Given the description of an element on the screen output the (x, y) to click on. 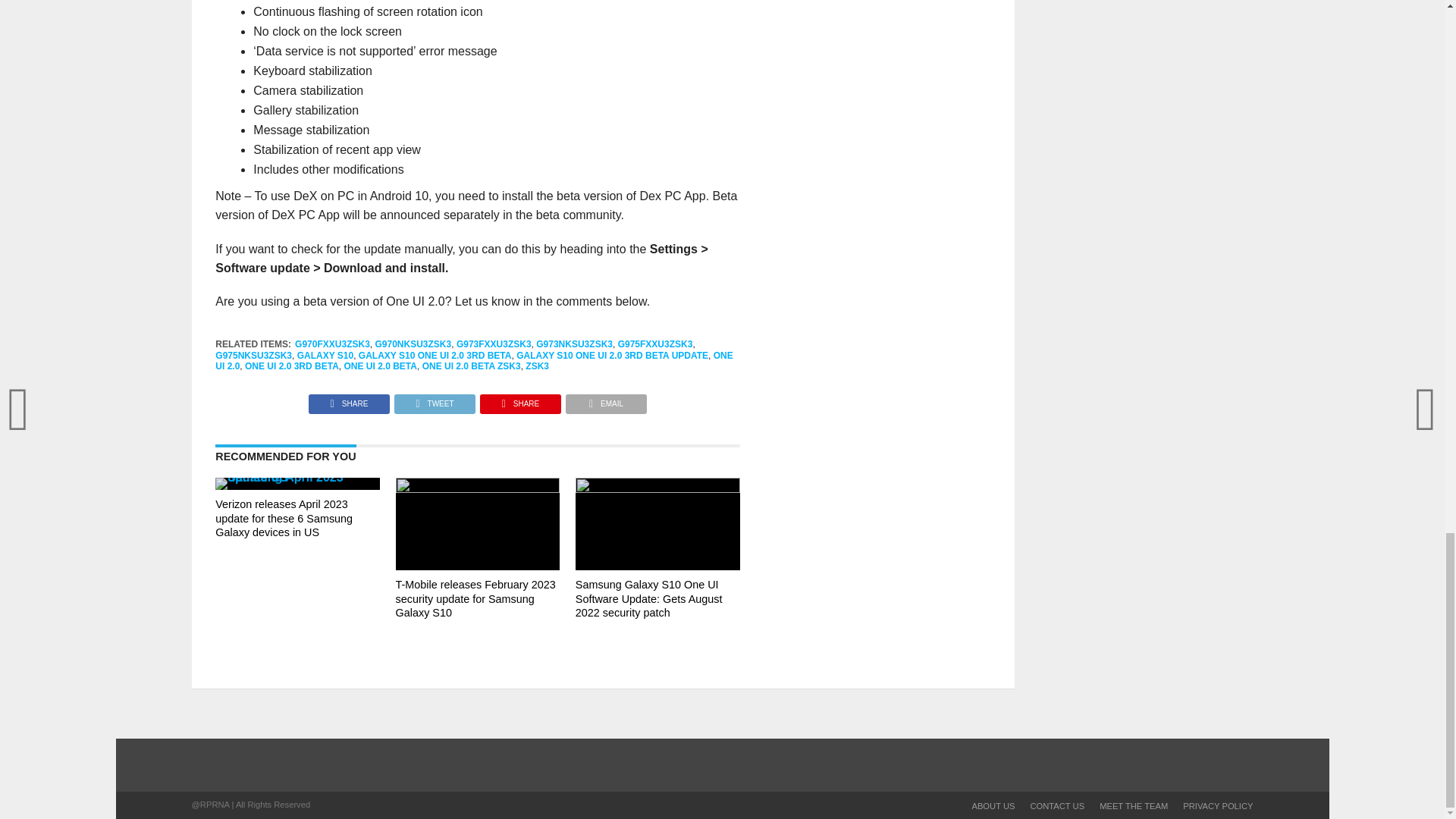
G973NKSU3ZSK3 (573, 344)
Tweet This Post (434, 399)
Share on Facebook (349, 399)
G970NKSU3ZSK3 (412, 344)
G975NKSU3ZSK3 (253, 355)
G970FXXU3ZSK3 (332, 344)
G975FXXU3ZSK3 (655, 344)
G973FXXU3ZSK3 (494, 344)
